Given the description of an element on the screen output the (x, y) to click on. 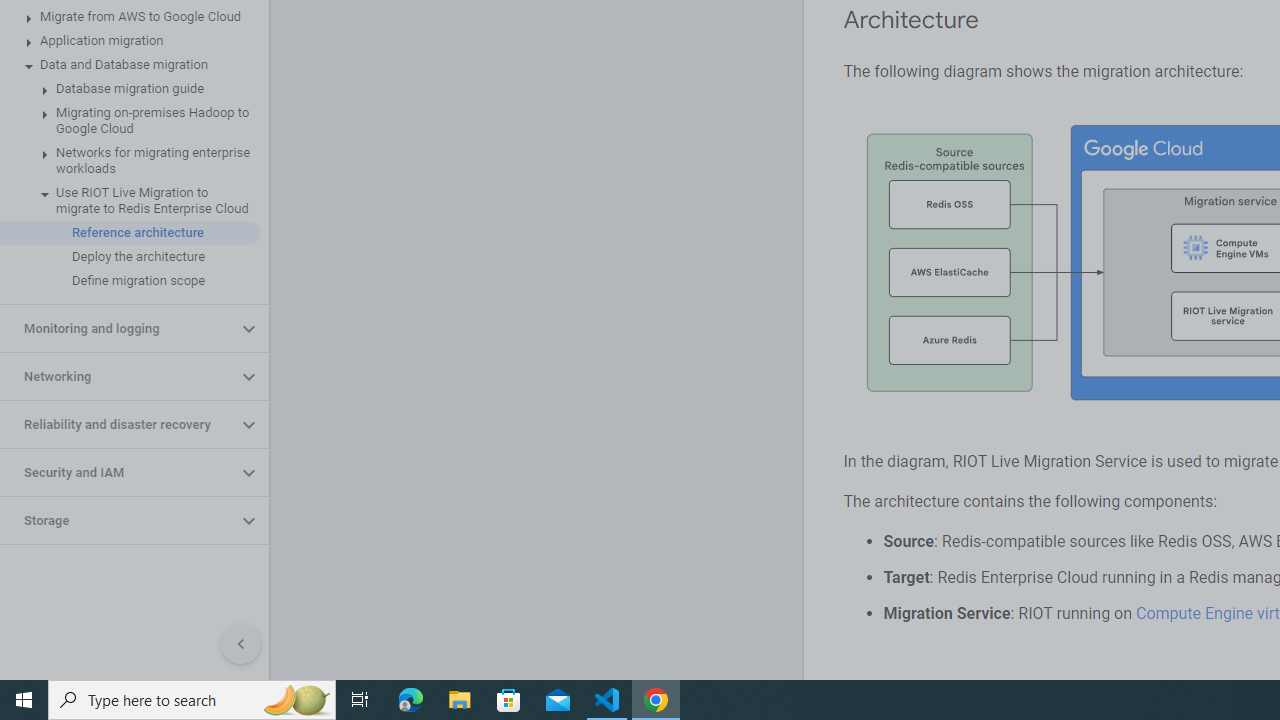
Copy link to this section: Architecture (997, 20)
Application migration (130, 40)
Data and Database migration (130, 65)
Networks for migrating enterprise workloads (130, 160)
Use RIOT Live Migration to migrate to Redis Enterprise Cloud (130, 200)
Hide side navigation (241, 643)
Migrating on-premises Hadoop to Google Cloud (130, 120)
Monitoring and logging (118, 328)
Database migration guide (130, 88)
Security and IAM (118, 472)
Reliability and disaster recovery (118, 425)
Networking (118, 376)
Migrate from AWS to Google Cloud (130, 16)
Define migration scope (130, 281)
